Given the description of an element on the screen output the (x, y) to click on. 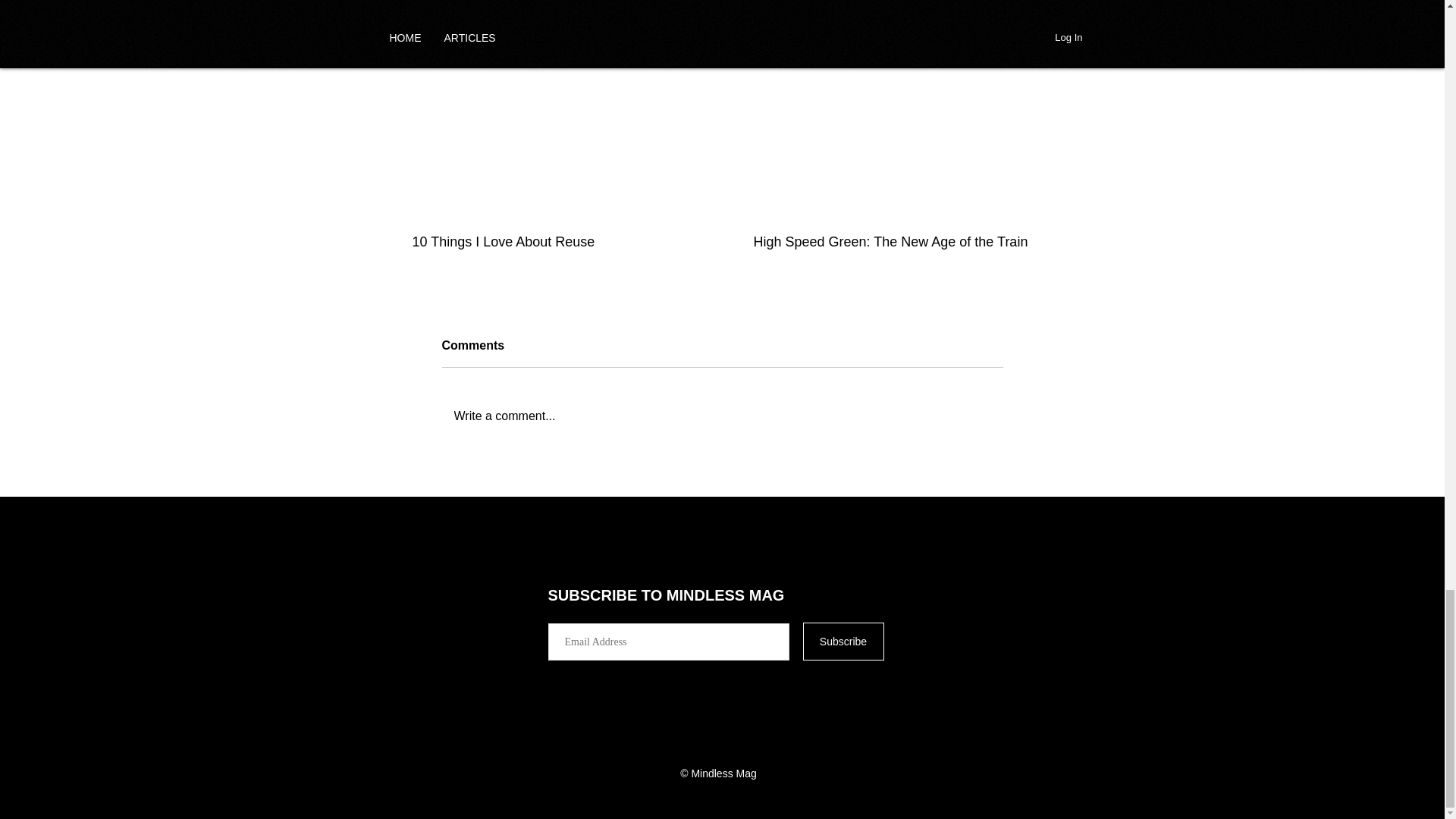
Write a comment... (722, 415)
See All (1034, 12)
Subscribe (842, 641)
High Speed Green: The New Age of the Train (893, 242)
10 Things I Love About Reuse (551, 242)
